Given the description of an element on the screen output the (x, y) to click on. 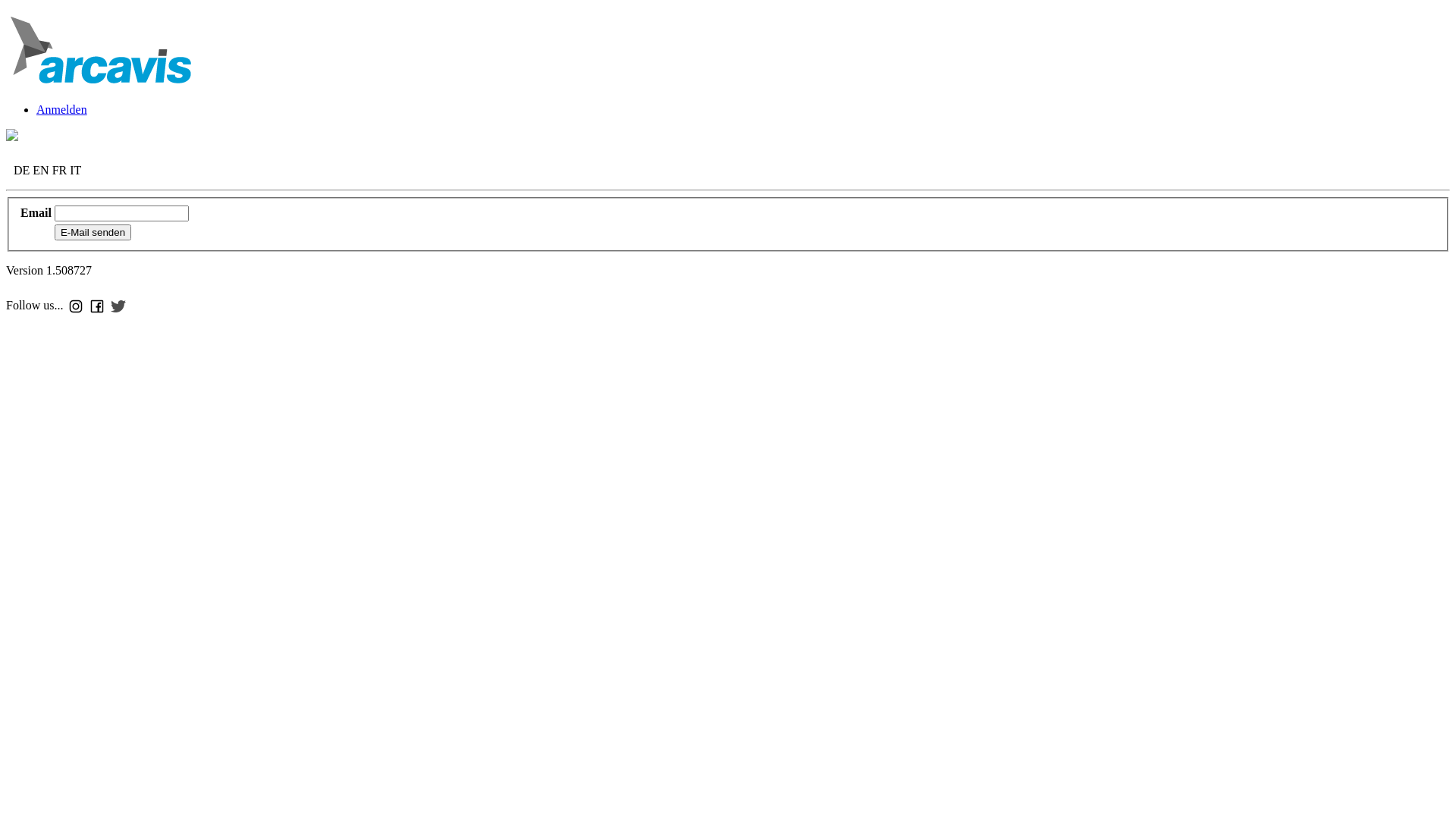
FR Element type: text (59, 169)
DE Element type: text (21, 169)
Anmelden Element type: text (61, 109)
EN Element type: text (40, 169)
IT Element type: text (75, 169)
E-Mail senden Element type: text (92, 232)
